Given the description of an element on the screen output the (x, y) to click on. 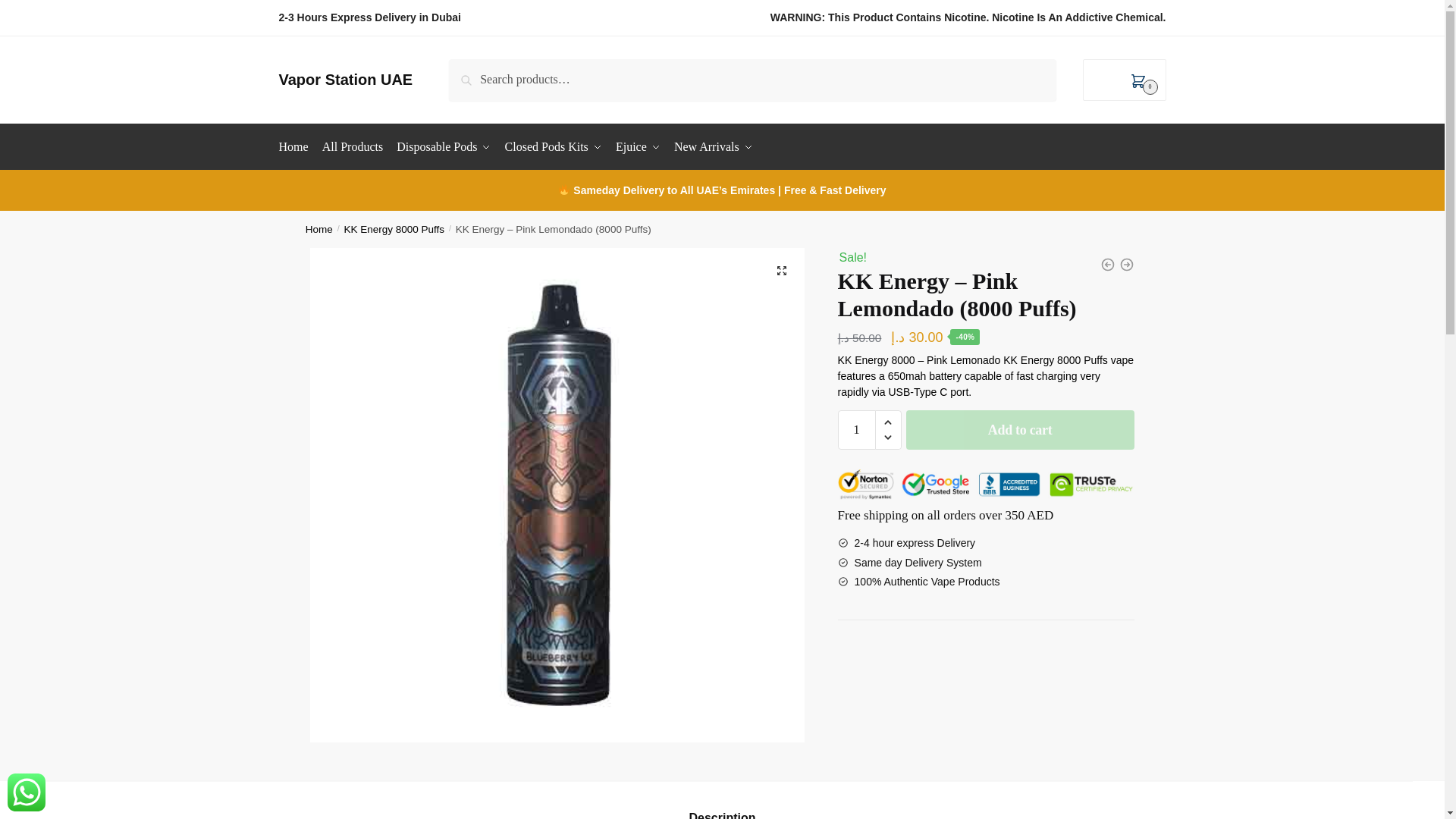
Vapor Station UAE (346, 79)
View your shopping cart (1124, 79)
1 (857, 429)
Disposable Pods (443, 146)
Closed Pods Kits (552, 146)
New Arrivals (712, 146)
All Products (352, 146)
Ejuice (637, 146)
Search (470, 69)
